Given the description of an element on the screen output the (x, y) to click on. 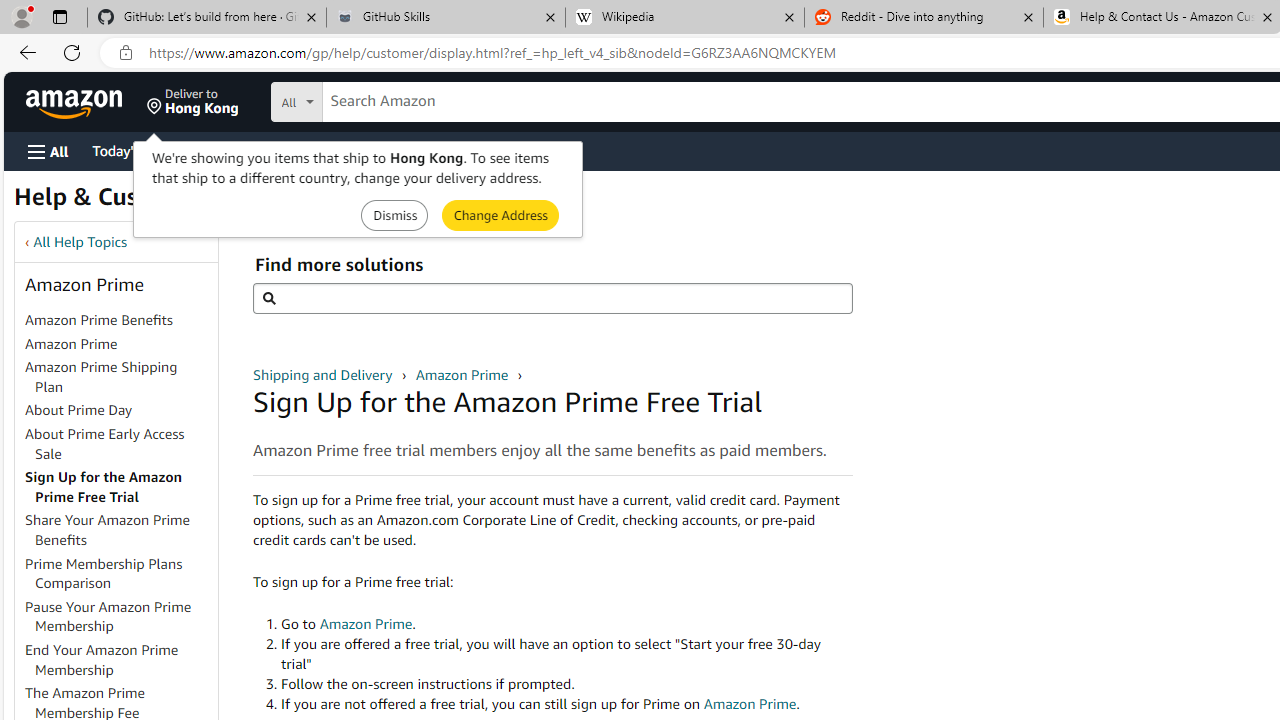
Prime Membership Plans Comparison (104, 573)
Today's Deals (134, 150)
Share Your Amazon Prime Benefits (107, 529)
End Your Amazon Prime Membership (102, 659)
Deliver to Hong Kong (193, 101)
Amazon Prime Shipping Plan (101, 376)
Prime Membership Plans Comparison (120, 573)
Open Menu (48, 151)
End Your Amazon Prime Membership (120, 660)
Search in (371, 102)
